Given the description of an element on the screen output the (x, y) to click on. 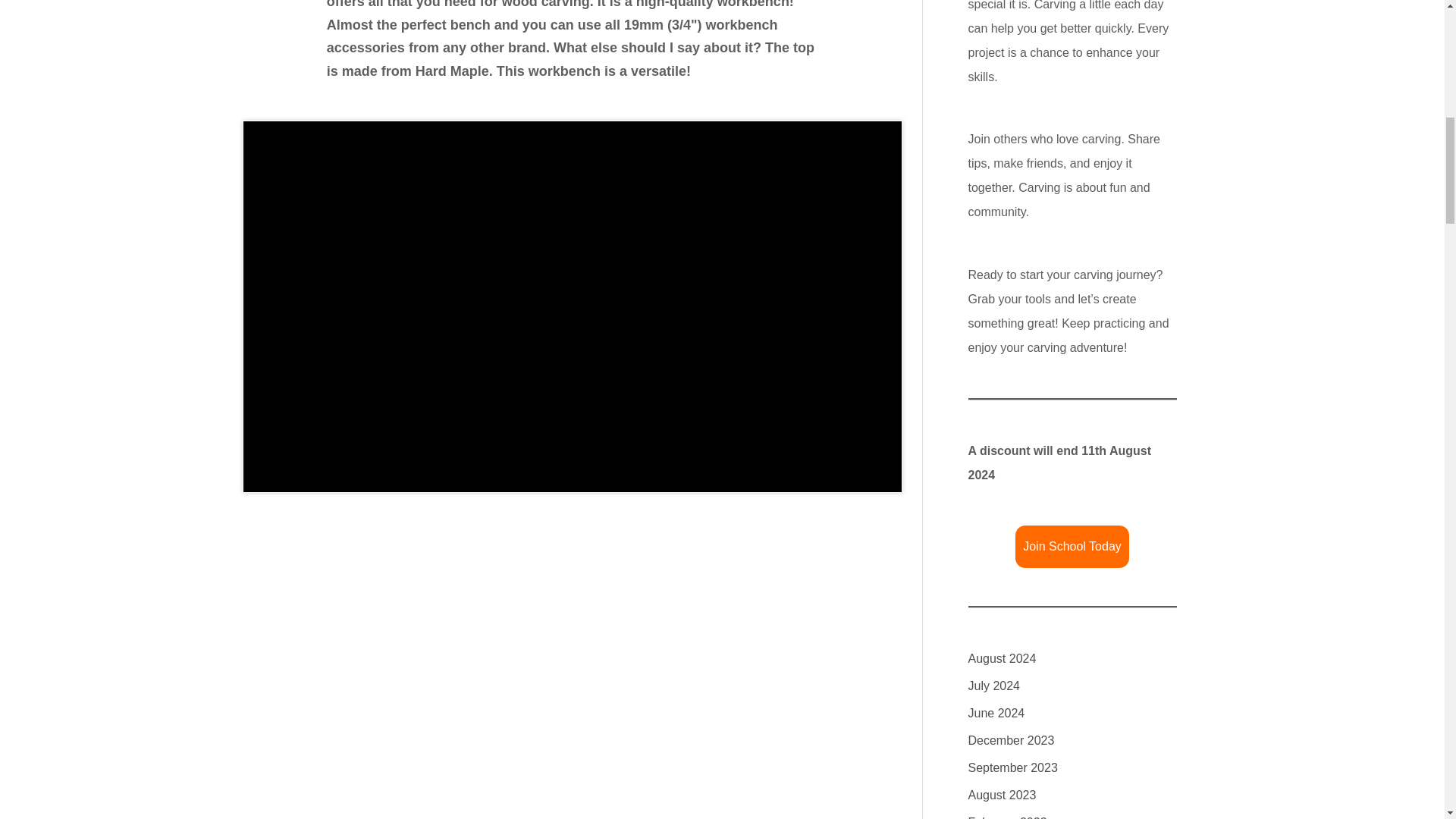
December 2023 (1011, 739)
June 2024 (996, 712)
August 2024 (1001, 658)
September 2023 (1012, 767)
Join School Today (1071, 546)
July 2024 (994, 685)
